Given the description of an element on the screen output the (x, y) to click on. 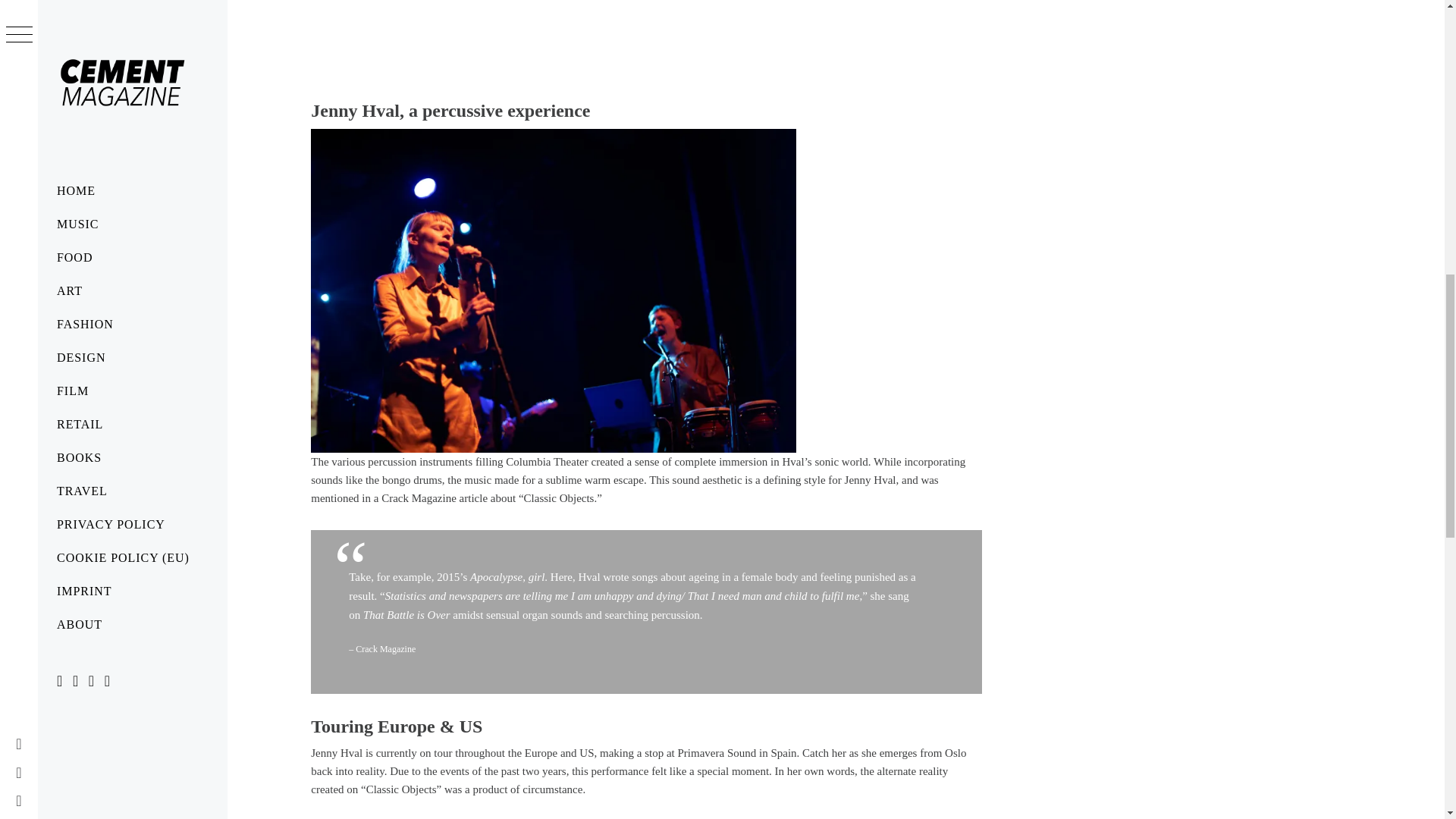
Crack Magazine (384, 648)
